Given the description of an element on the screen output the (x, y) to click on. 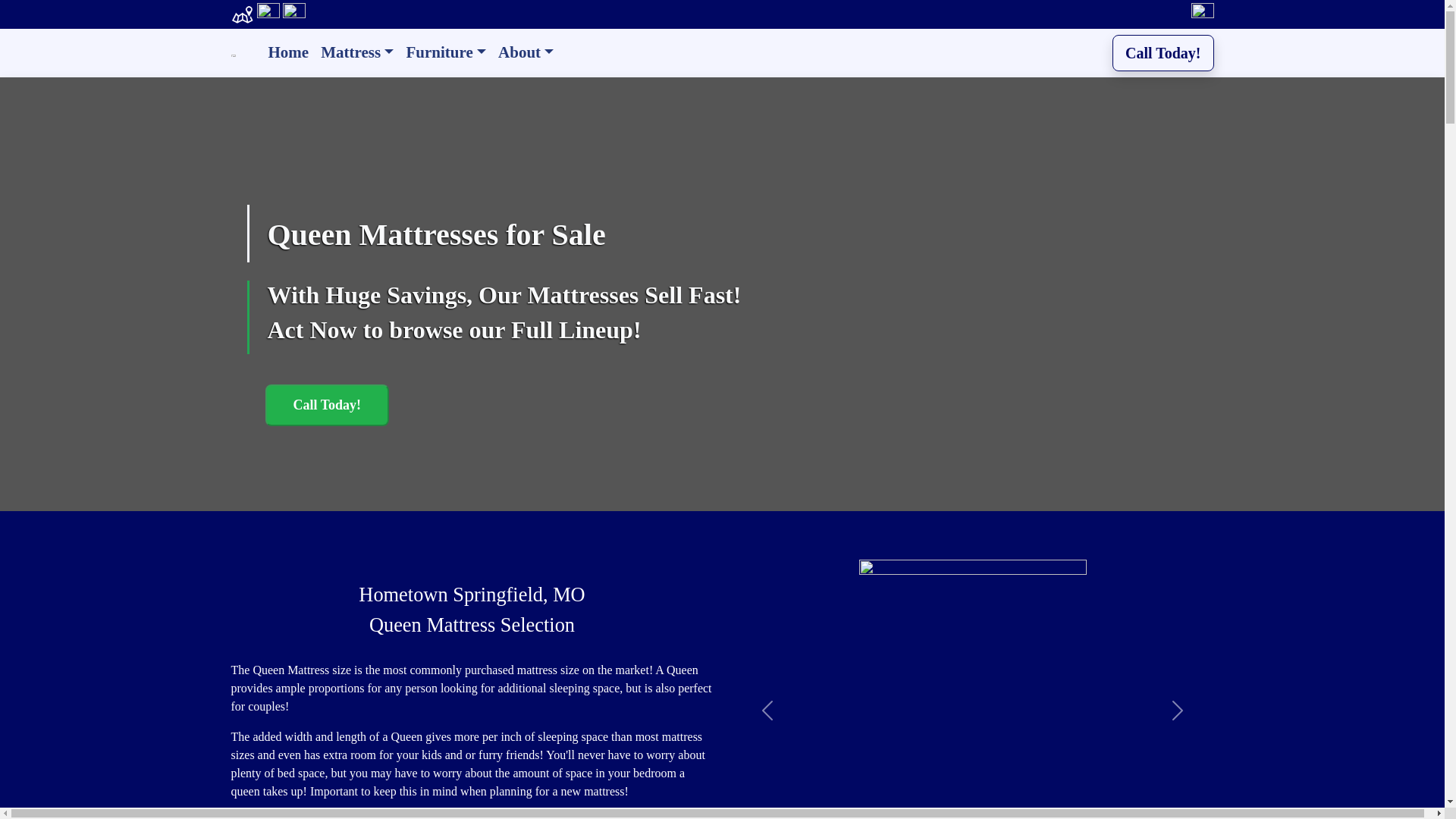
Call Today! (1162, 53)
Furniture (445, 53)
Call Today! (327, 404)
About (525, 53)
Mattress (356, 53)
Call Today! (327, 404)
Home (288, 53)
